Given the description of an element on the screen output the (x, y) to click on. 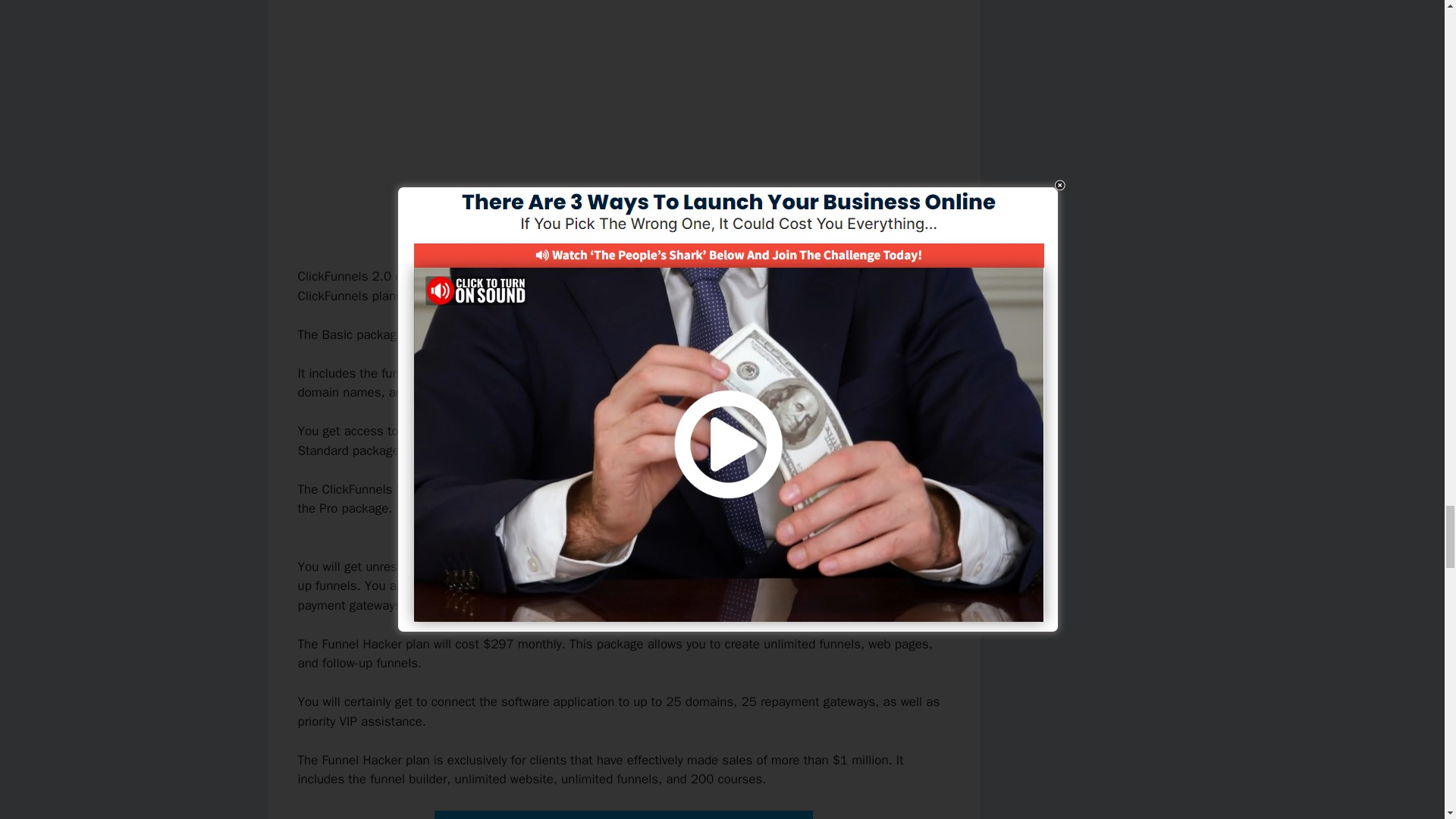
Activate Your ClickFunnels 2.0 Free Trial Now (623, 814)
